Given the description of an element on the screen output the (x, y) to click on. 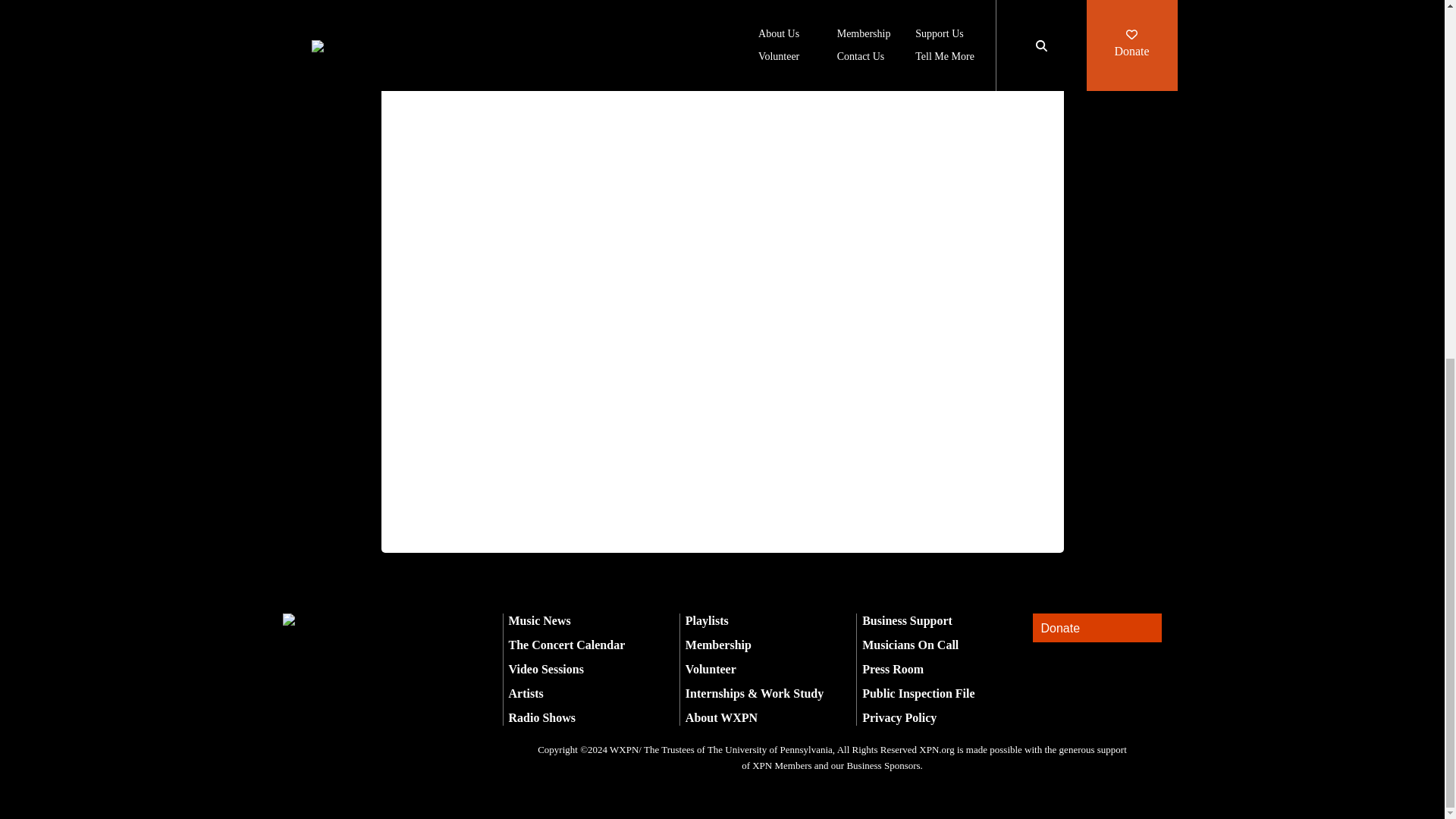
Public Inspection File (917, 693)
Donate (1096, 627)
Playlists (707, 620)
About WXPN (721, 717)
Video Sessions (545, 668)
Volunteer (710, 668)
Musicians On Call (909, 644)
Business Support (906, 620)
Radio Shows (541, 717)
The Concert Calendar (566, 644)
